Given the description of an element on the screen output the (x, y) to click on. 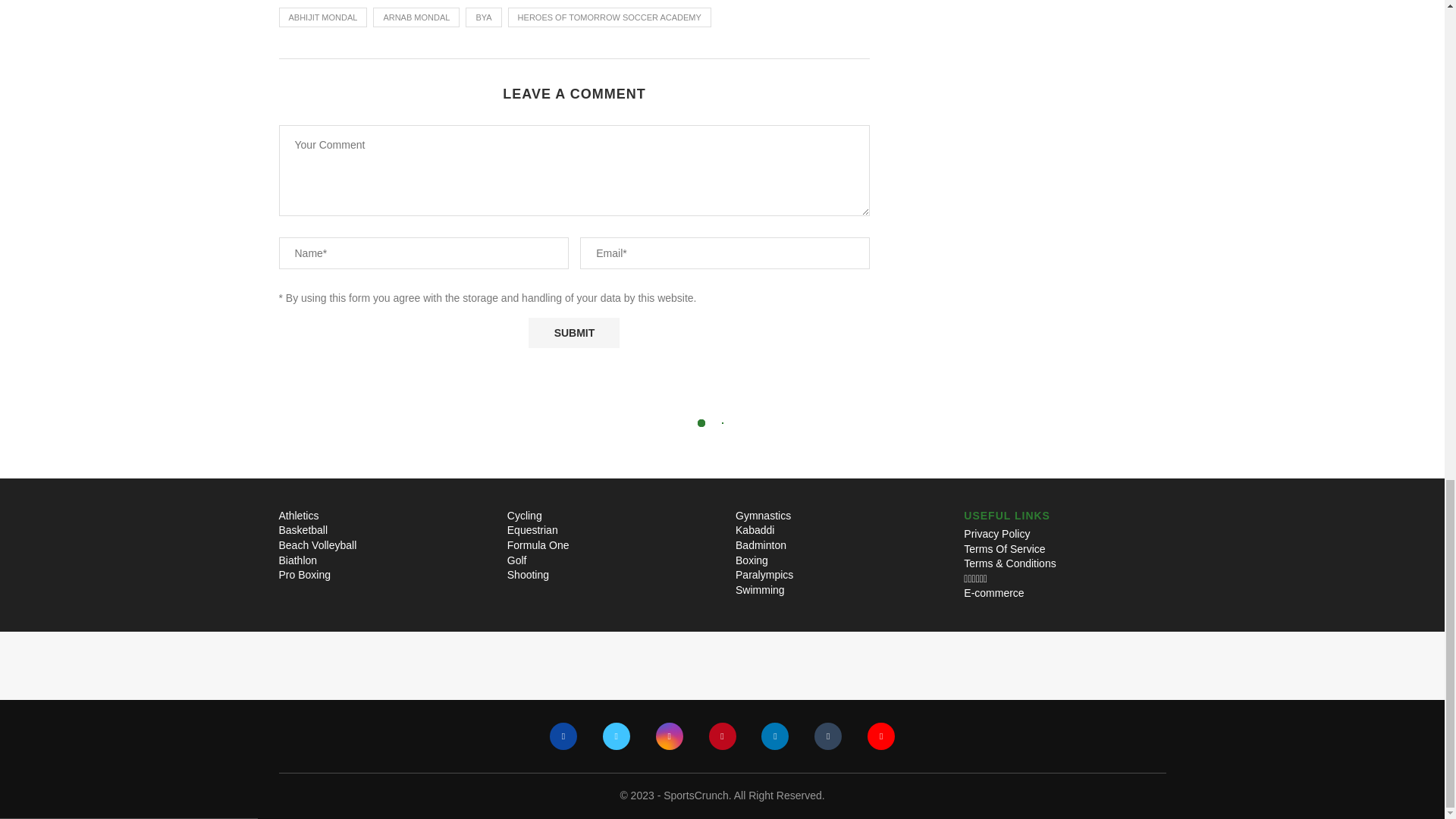
Submit (574, 332)
